Given the description of an element on the screen output the (x, y) to click on. 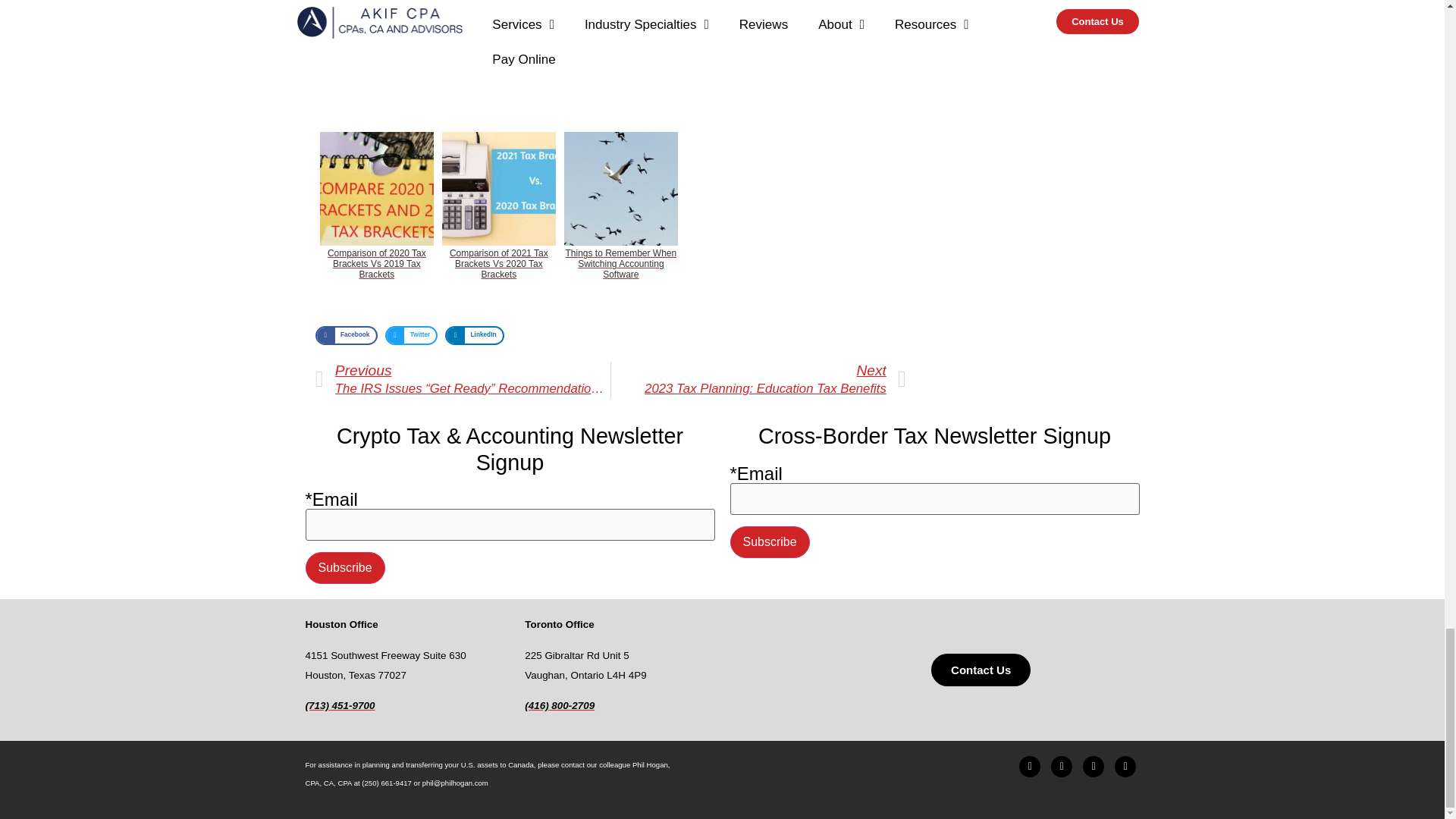
Subscribe (344, 567)
Subscribe (769, 541)
